Given the description of an element on the screen output the (x, y) to click on. 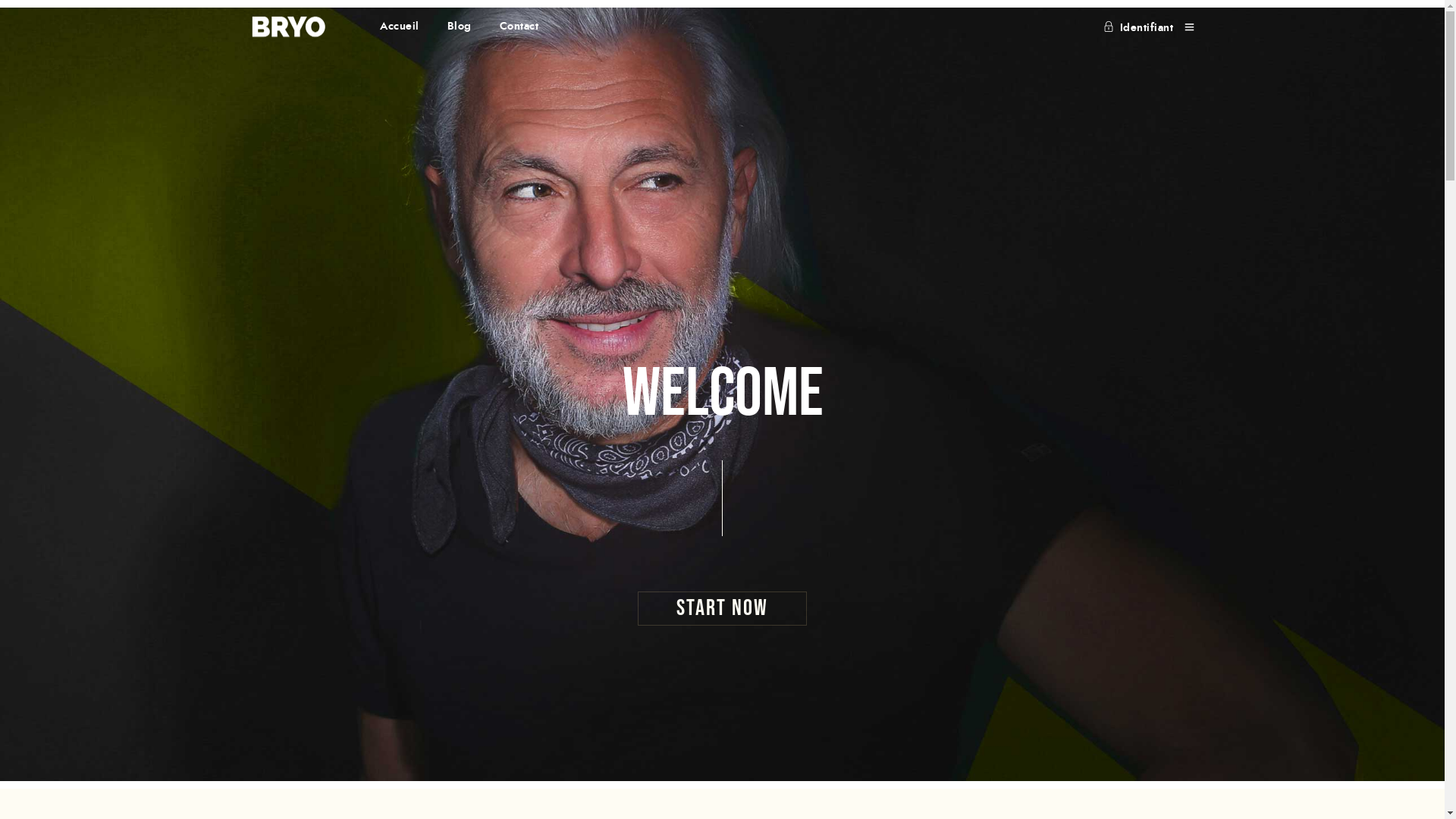
Identifiant Element type: text (1138, 27)
Blog Element type: text (458, 27)
Accueil Element type: text (399, 27)
Contact Element type: text (519, 27)
